Given the description of an element on the screen output the (x, y) to click on. 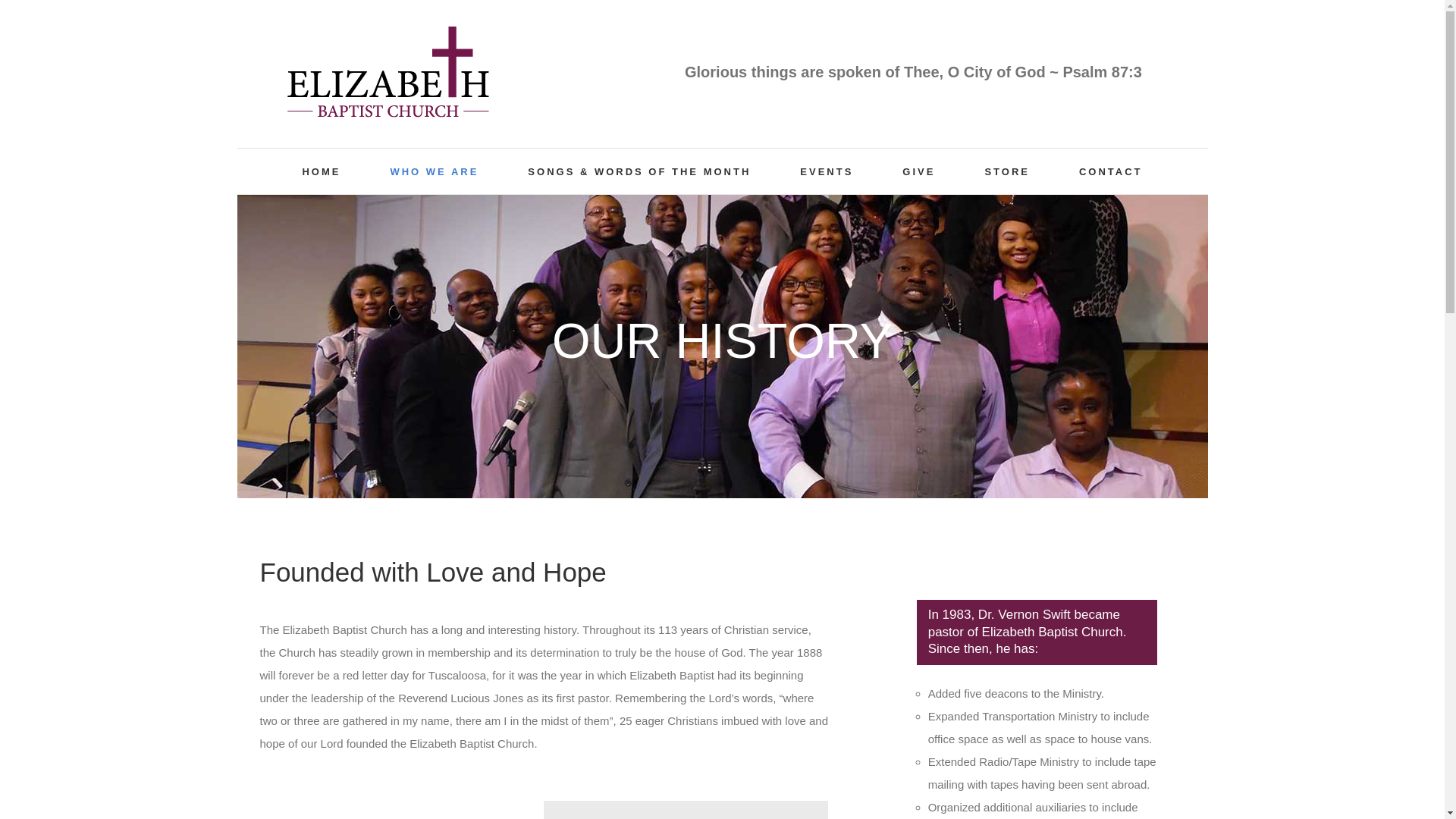
WHO WE ARE (434, 171)
CONTACT (1110, 171)
EVENTS (826, 171)
HOME (320, 171)
STORE (1006, 171)
GIVE (918, 171)
